Given the description of an element on the screen output the (x, y) to click on. 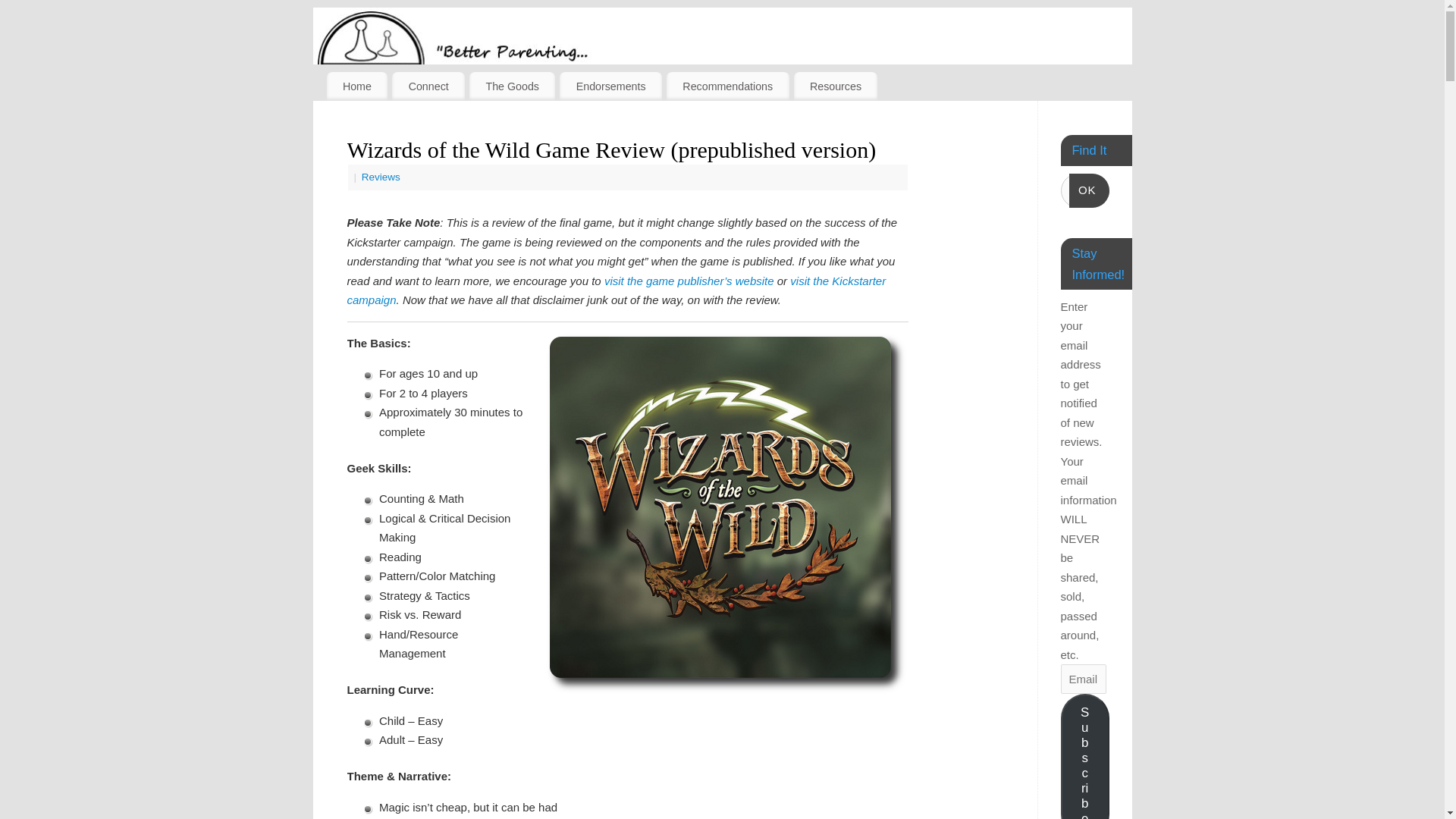
The Goods (511, 86)
Endorsements (610, 86)
Home (356, 86)
visit the Kickstarter campaign (616, 290)
Resources (835, 86)
Reviews (380, 176)
Recommendations (727, 86)
Connect (427, 86)
